Given the description of an element on the screen output the (x, y) to click on. 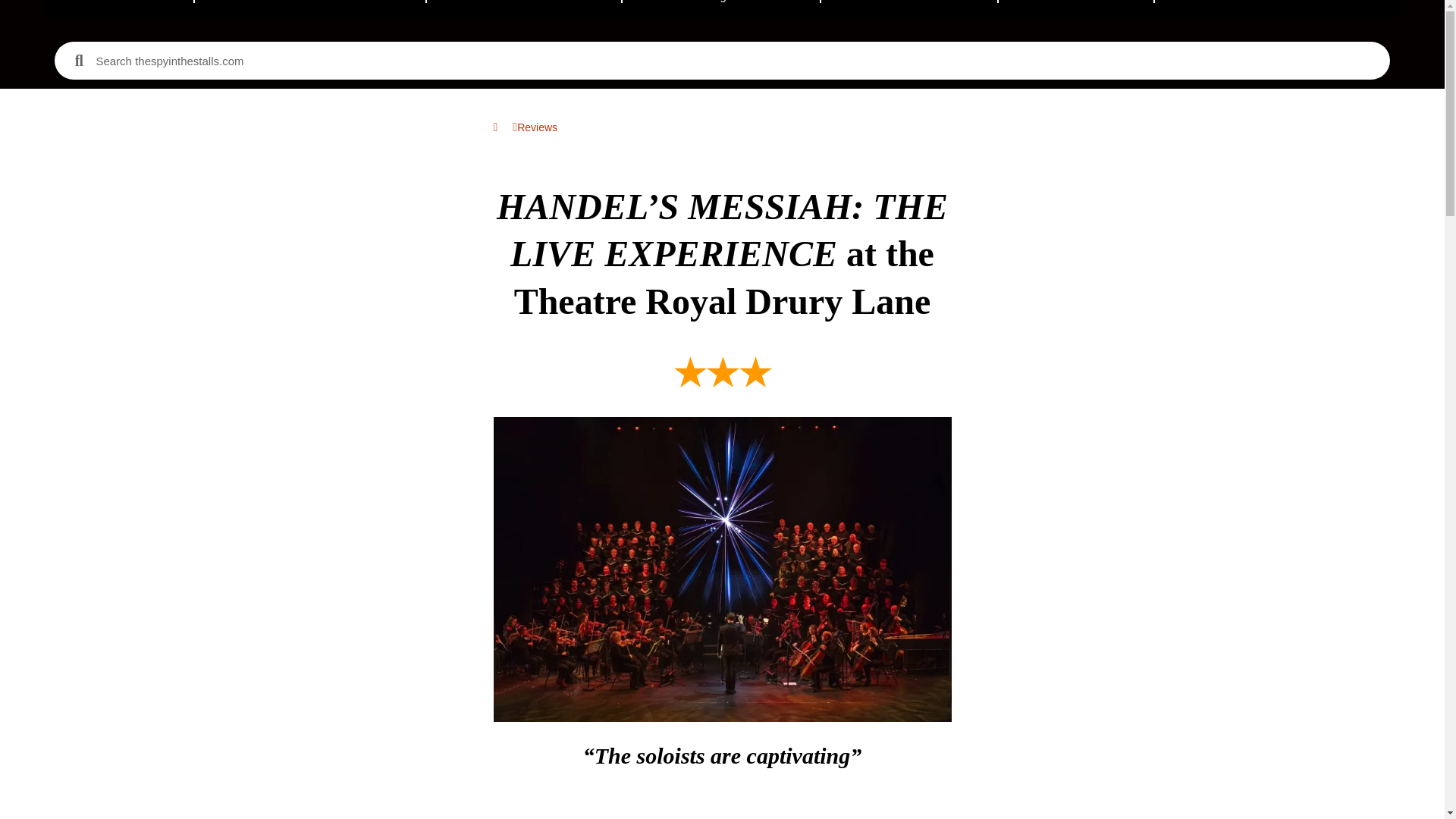
Edinburgh 2024 (721, 8)
Recommended Shows (310, 8)
Archive (1075, 8)
Home (119, 8)
Latest Reviews (523, 8)
Show Index (909, 8)
